Given the description of an element on the screen output the (x, y) to click on. 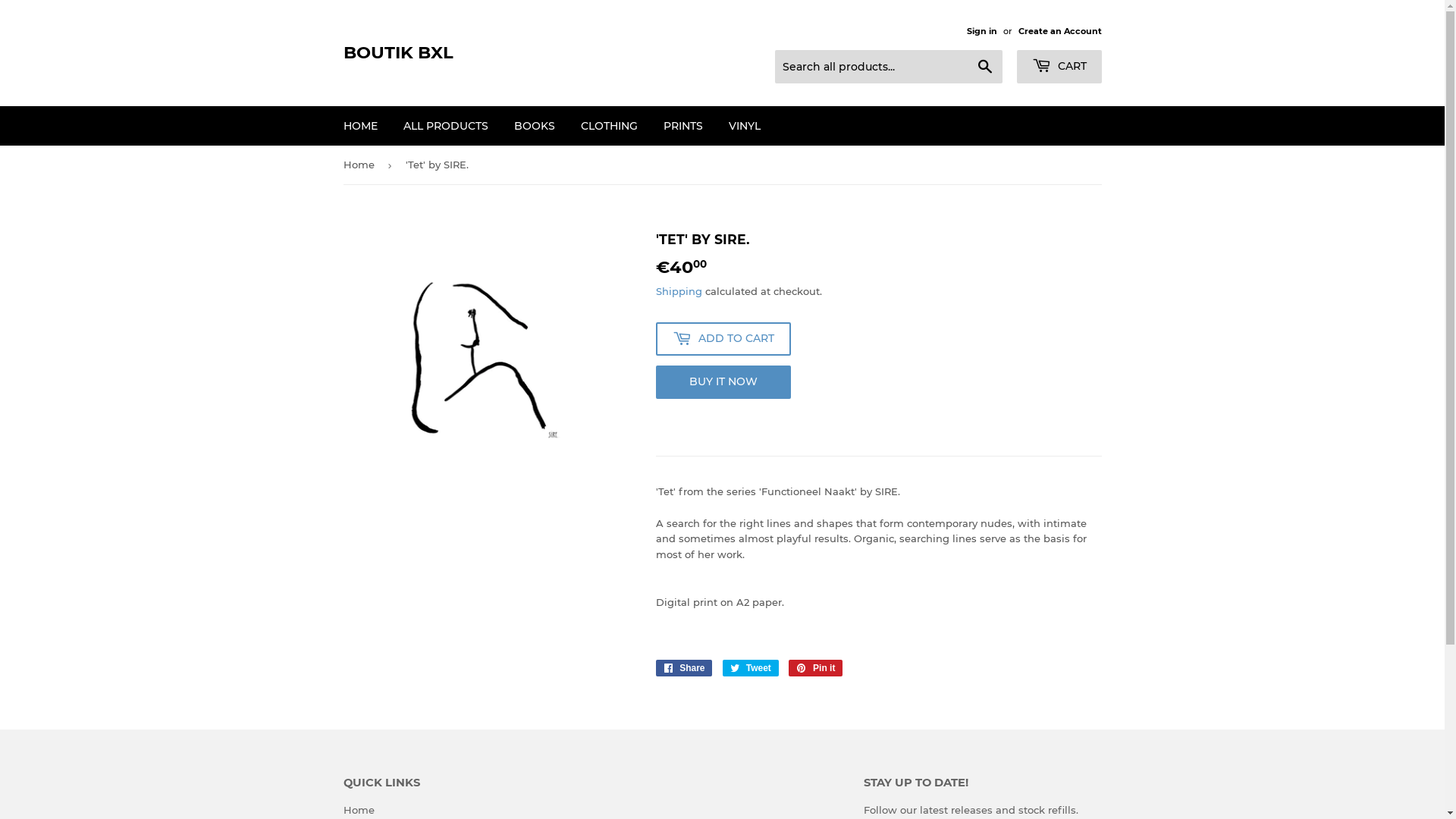
BOUTIK BXL Element type: text (531, 52)
Home Element type: text (357, 809)
Create an Account Element type: text (1059, 30)
Search Element type: text (984, 67)
VINYL Element type: text (744, 125)
ADD TO CART Element type: text (722, 338)
Home Element type: text (360, 164)
CLOTHING Element type: text (608, 125)
HOME Element type: text (360, 125)
ALL PRODUCTS Element type: text (444, 125)
Tweet
Tweet on Twitter Element type: text (750, 667)
Shipping Element type: text (678, 291)
CART Element type: text (1058, 66)
PRINTS Element type: text (683, 125)
Pin it
Pin on Pinterest Element type: text (815, 667)
BOOKS Element type: text (533, 125)
BUY IT NOW Element type: text (722, 381)
Sign in Element type: text (981, 30)
Share
Share on Facebook Element type: text (683, 667)
